Given the description of an element on the screen output the (x, y) to click on. 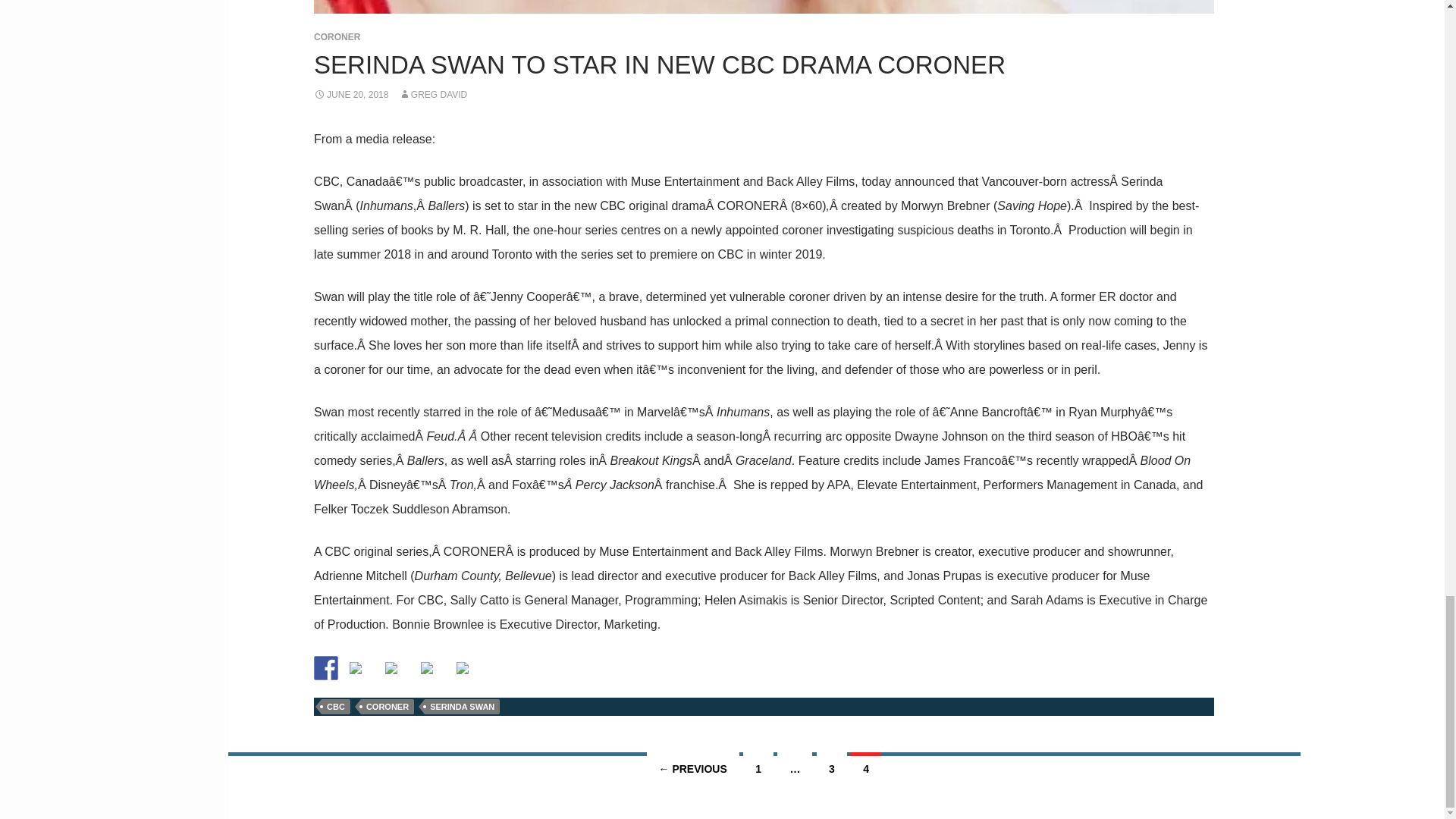
Share on Twitter (355, 667)
Share on Twitter (361, 673)
CORONER (336, 36)
Share on Reddit (397, 673)
Share on Facebook (325, 668)
Share on Linkedin (426, 667)
Share on Linkedin (432, 673)
Share on Reddit (391, 667)
JUNE 20, 2018 (351, 94)
SERINDA SWAN TO STAR IN NEW CBC DRAMA CORONER (660, 64)
